Given the description of an element on the screen output the (x, y) to click on. 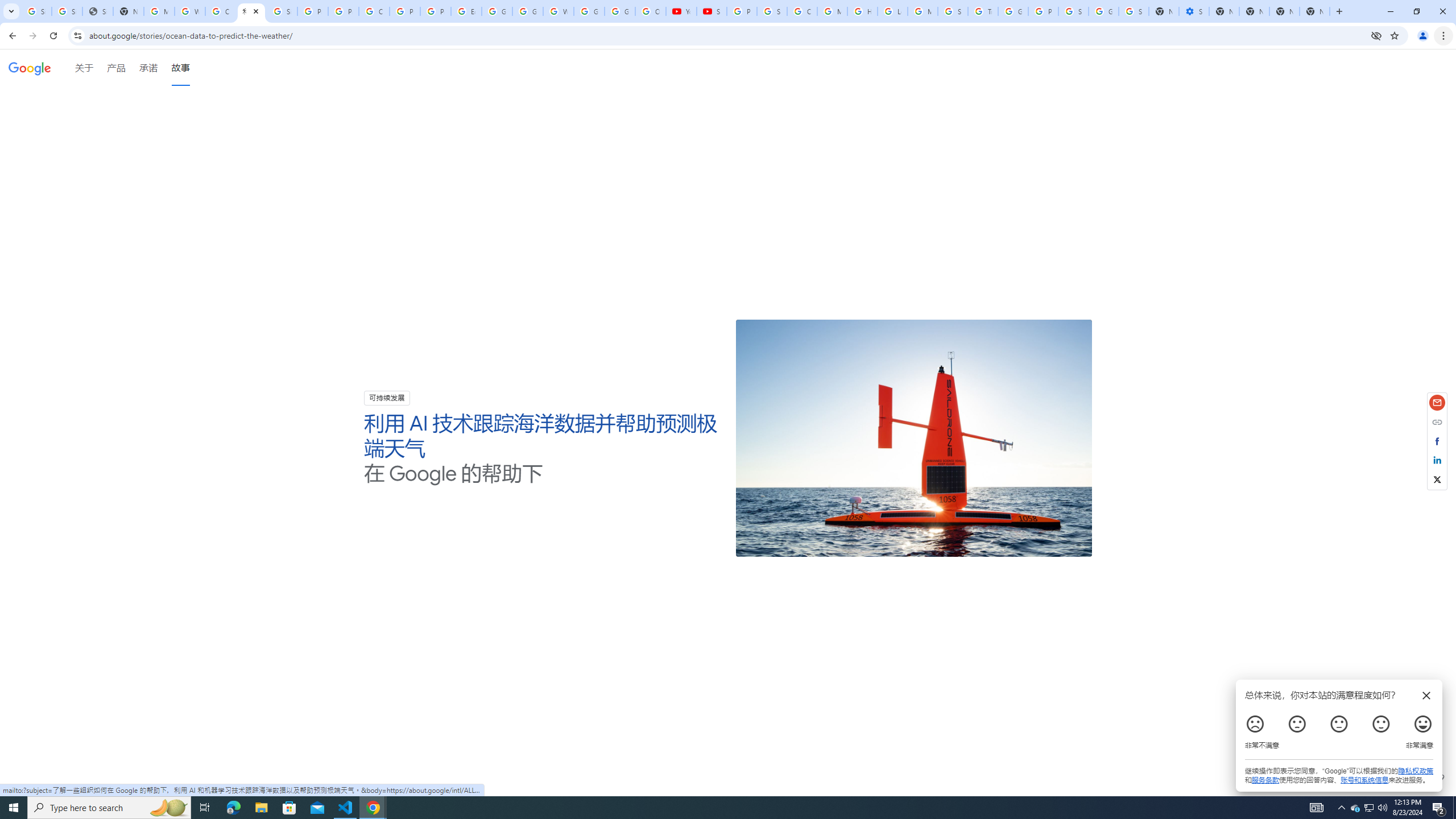
Subscriptions - YouTube (711, 11)
Sign in - Google Accounts (1072, 11)
